Given the description of an element on the screen output the (x, y) to click on. 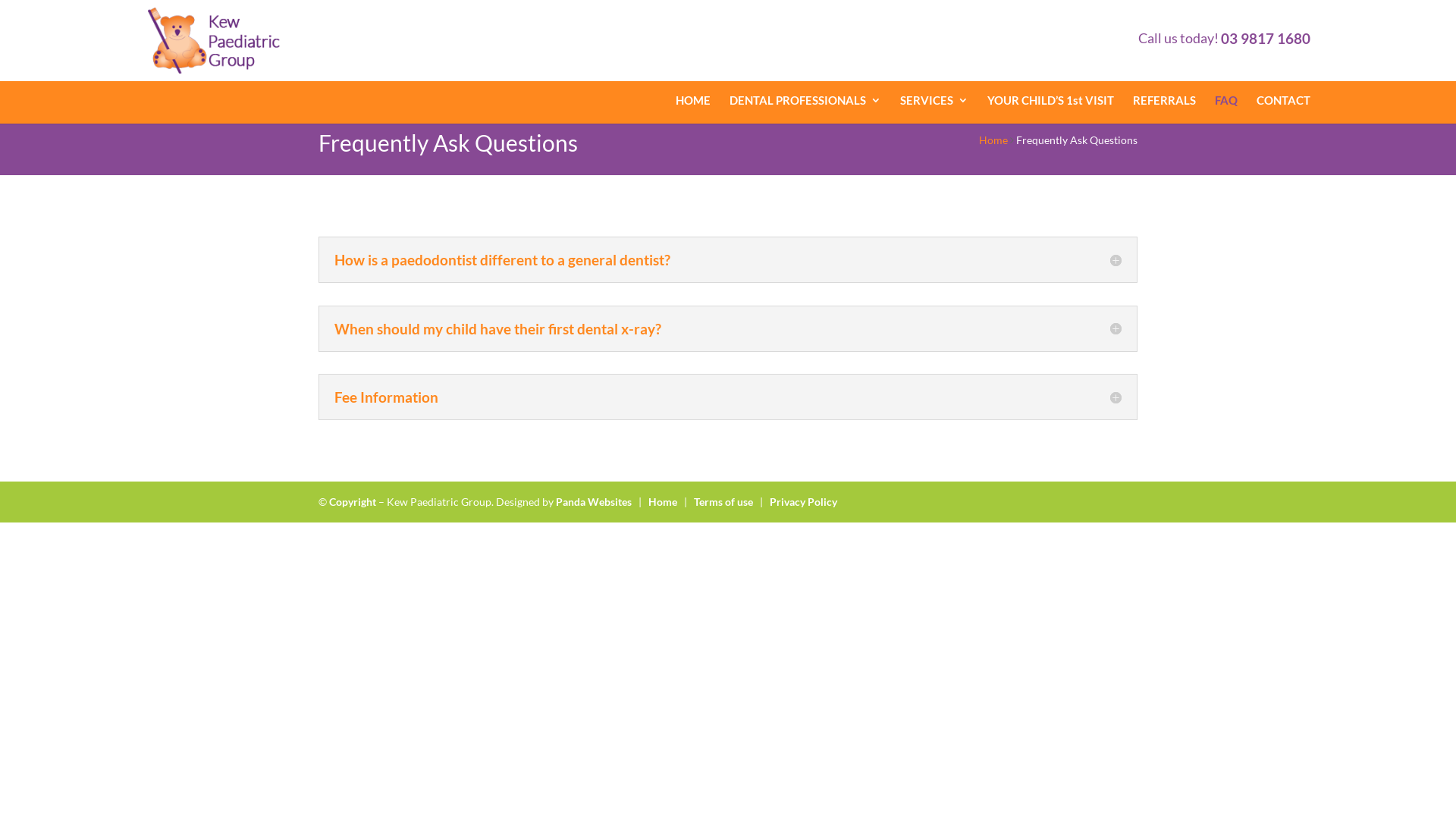
HOME Element type: text (692, 100)
DENTAL PROFESSIONALS Element type: text (805, 100)
Home Element type: text (662, 501)
Home Element type: text (993, 139)
Terms of use Element type: text (723, 501)
SERVICES Element type: text (934, 100)
03 9817 1680 Element type: text (1265, 38)
Copyright Element type: text (352, 501)
FAQ Element type: text (1225, 100)
CONTACT Element type: text (1283, 100)
Privacy Policy Element type: text (803, 501)
Panda Websites Element type: text (593, 501)
REFERRALS Element type: text (1163, 100)
